Given the description of an element on the screen output the (x, y) to click on. 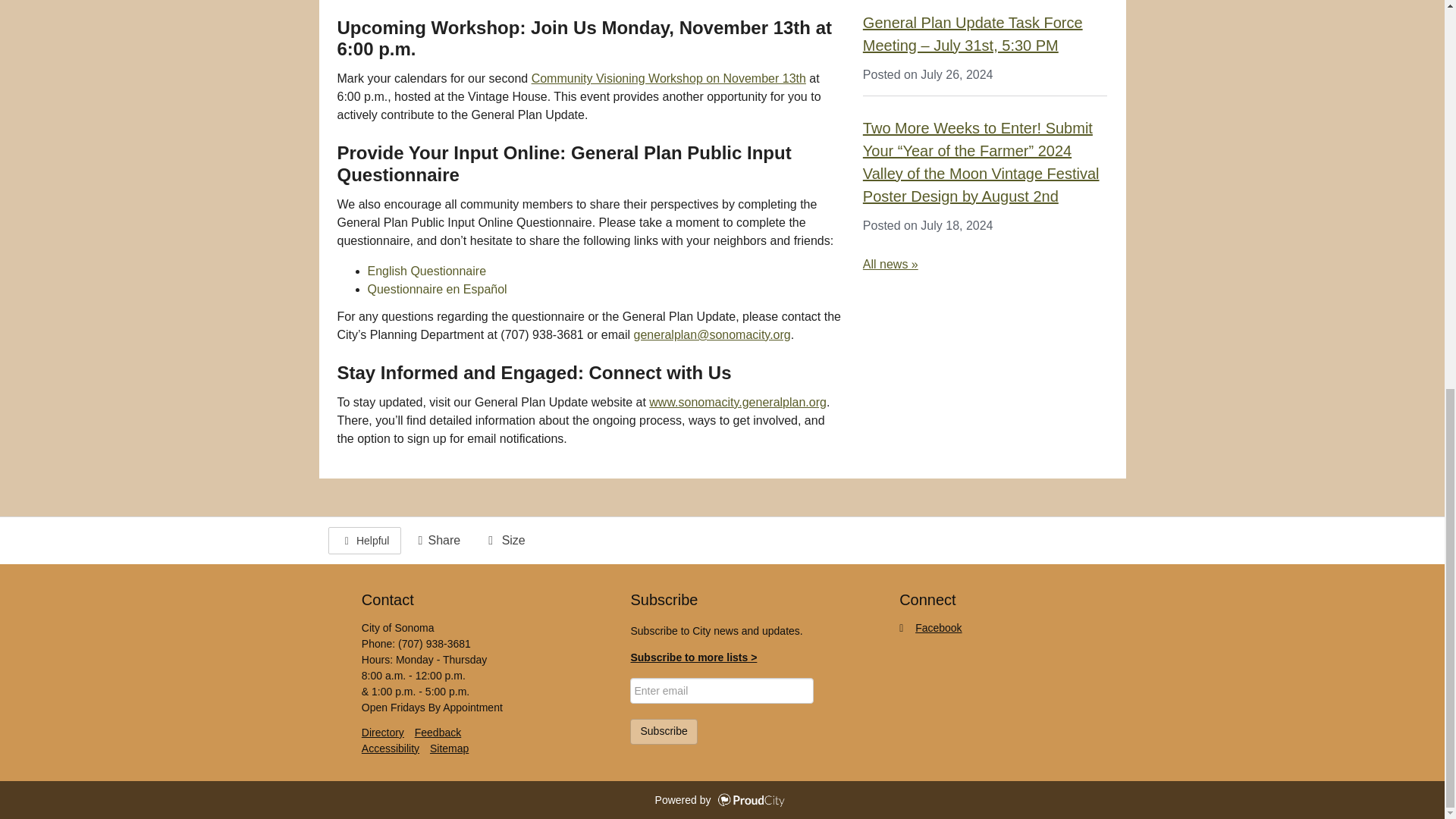
Helpful (364, 540)
English Questionnaire (426, 270)
Community Visioning Workshop on November 13th (668, 78)
Subscribe (663, 731)
This page makes me proud (364, 540)
www.sonomacity.generalplan.org (738, 401)
Share (436, 540)
